Given the description of an element on the screen output the (x, y) to click on. 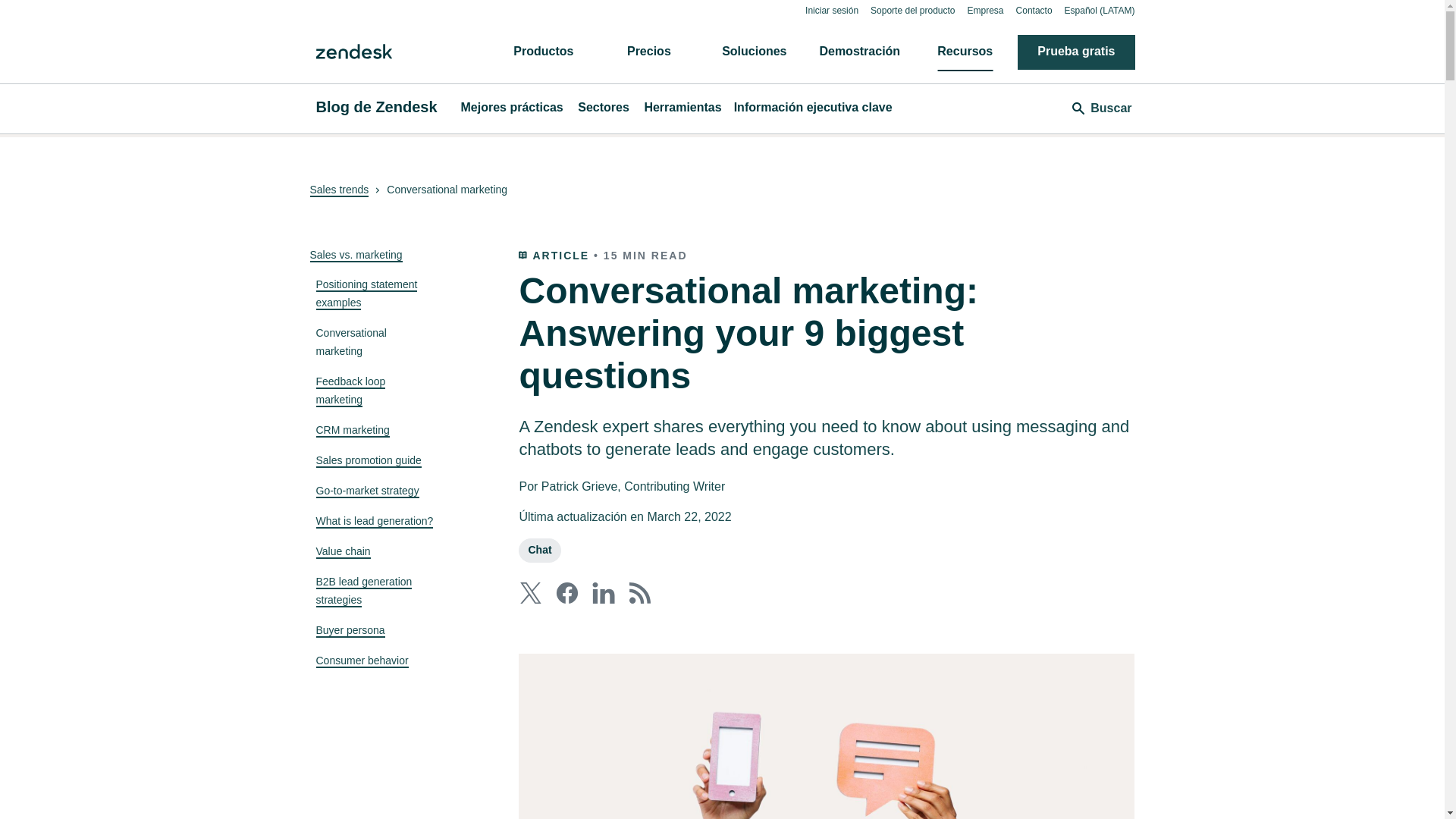
Empresa (986, 9)
Soporte del producto (912, 9)
Prueba gratis (1075, 52)
Contacto (1034, 9)
